Given the description of an element on the screen output the (x, y) to click on. 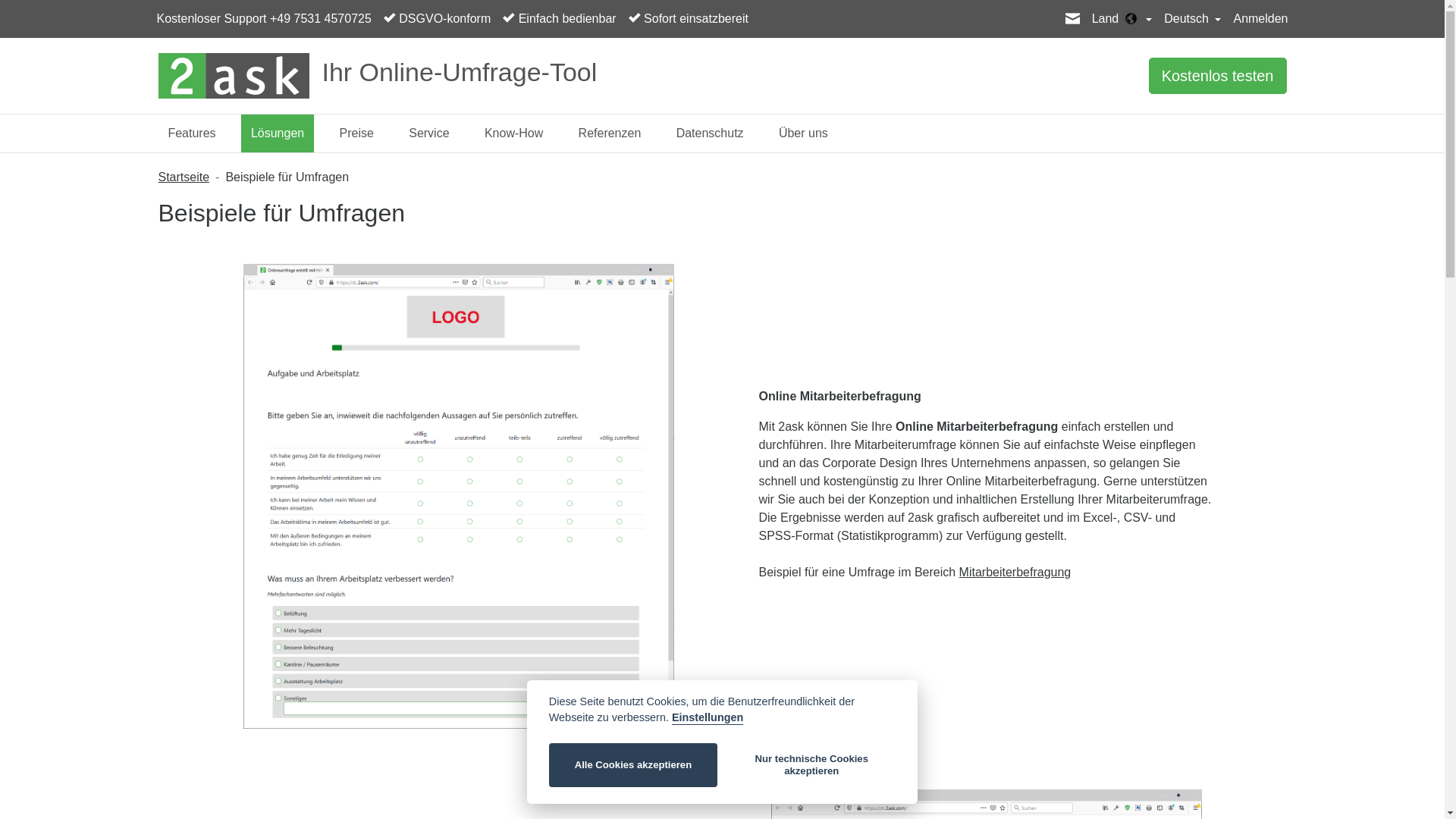
Preise Element type: text (356, 133)
Service Element type: text (428, 133)
Ihr Online-Umfrage-Tool Element type: text (535, 75)
Einfach bedienbar Element type: text (558, 18)
Startseite Element type: text (183, 176)
DSGVO-konform Element type: text (436, 18)
Know-How Element type: text (513, 133)
Nur technische Cookies akzeptieren Element type: text (811, 765)
Alle Cookies akzeptieren Element type: text (633, 765)
Kostenlos testen Element type: text (1217, 75)
Referenzen Element type: text (609, 133)
Kostenloser Support +49 7531 4570725 Element type: text (263, 18)
Sofort einsatzbereit Element type: text (688, 18)
Anmelden Element type: text (1259, 18)
Deutsch Element type: text (1191, 18)
Land Element type: text (1121, 18)
International Element type: hover (1130, 18)
Mitarbeiterbefragung Element type: text (1015, 571)
Einstellungen Element type: text (707, 717)
Features Element type: text (191, 133)
Datenschutz Element type: text (709, 133)
